Given the description of an element on the screen output the (x, y) to click on. 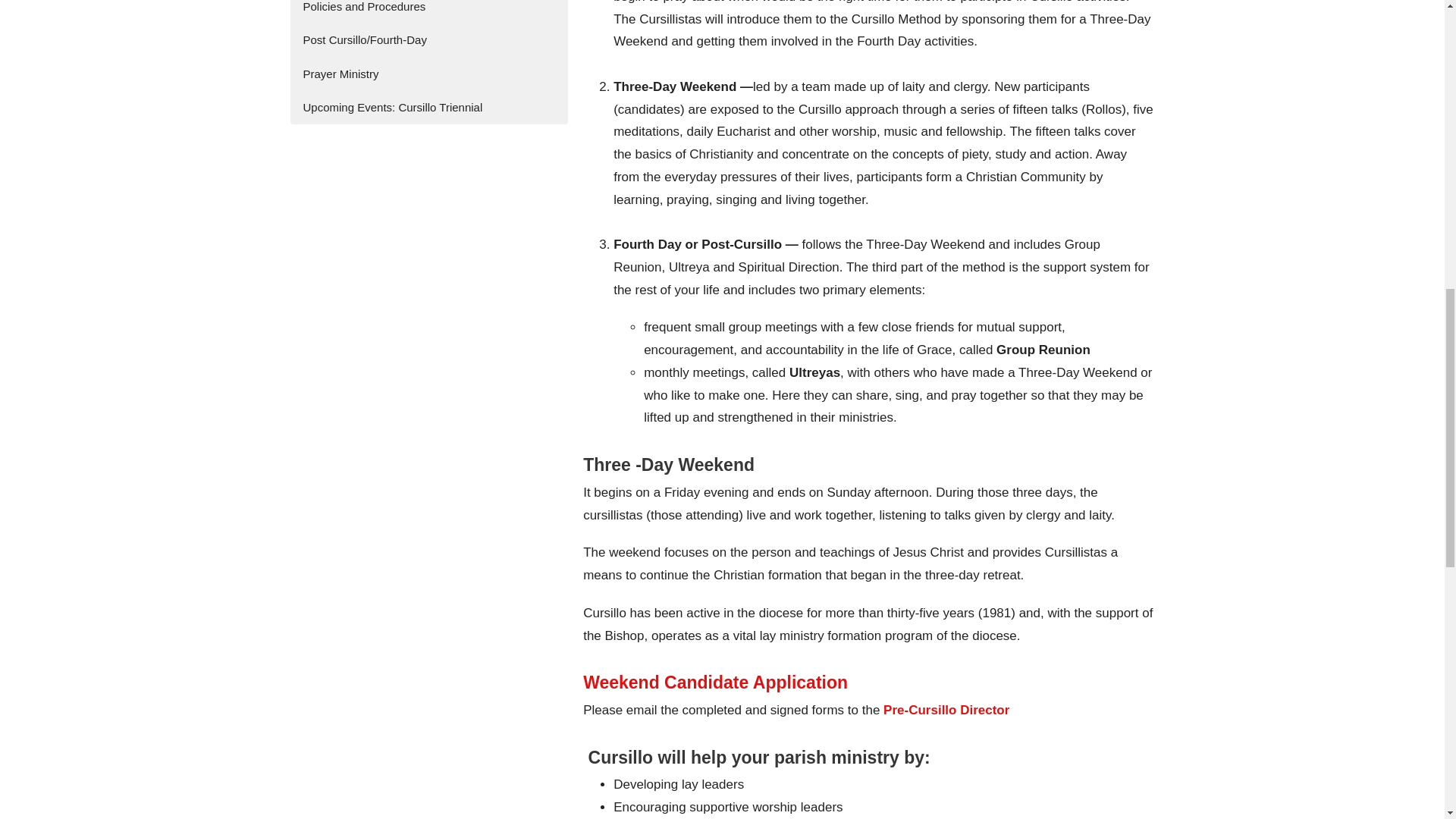
Prayer Ministry (428, 73)
Upcoming Events: Cursillo Triennial (428, 107)
Weekend Candidate Application (715, 682)
Pre-Cursillo Director (946, 709)
Policies and Procedures (428, 11)
